Given the description of an element on the screen output the (x, y) to click on. 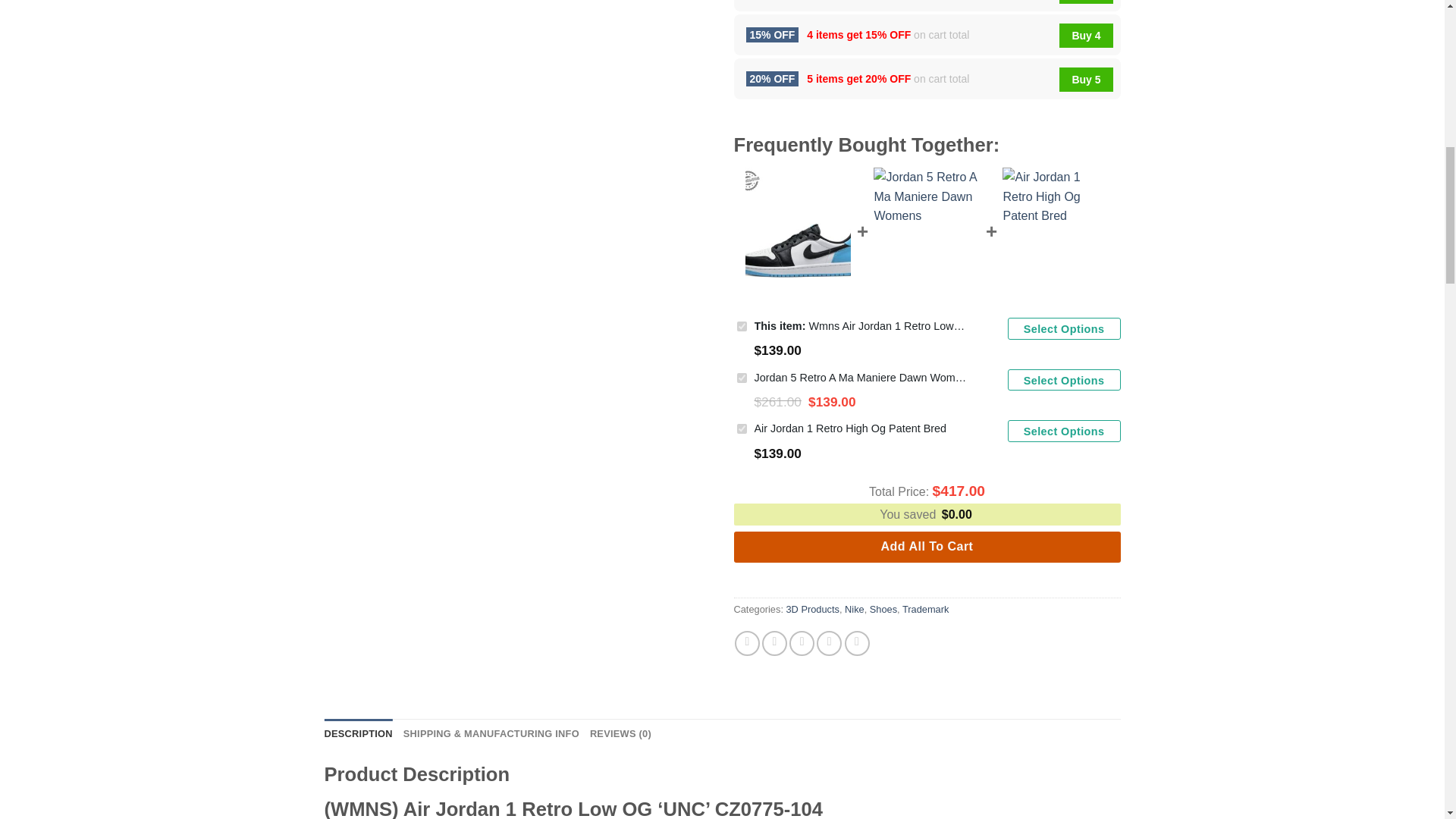
7127 (741, 429)
17209 (741, 326)
6982 (741, 378)
